Given the description of an element on the screen output the (x, y) to click on. 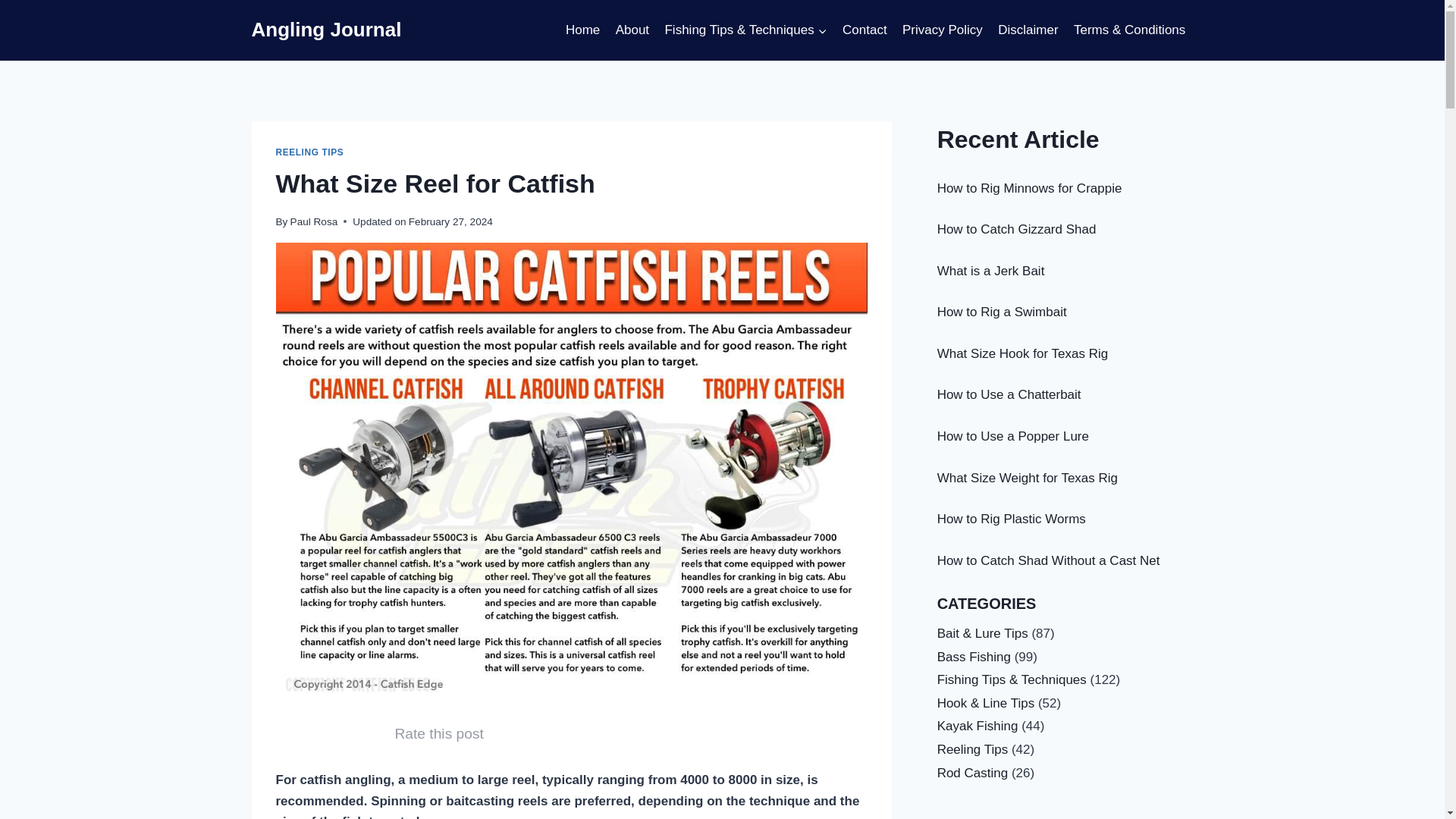
Contact (864, 30)
Disclaimer (1027, 30)
REELING TIPS (309, 152)
Angling Journal (326, 29)
About (631, 30)
Home (582, 30)
Privacy Policy (942, 30)
